Given the description of an element on the screen output the (x, y) to click on. 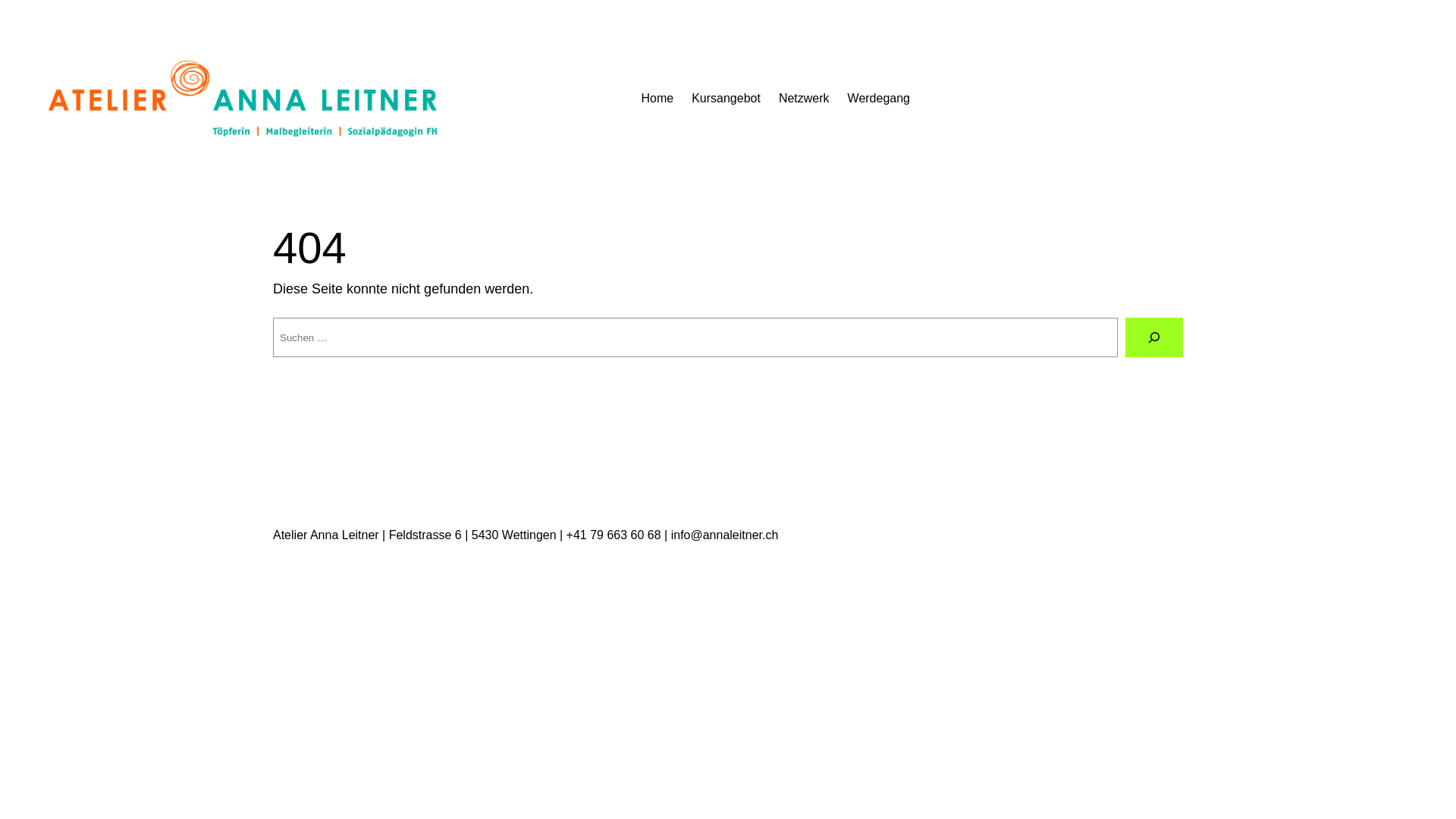
Kursangebot Element type: text (725, 98)
Werdegang Element type: text (878, 98)
Netzwerk Element type: text (803, 98)
Home Element type: text (656, 98)
